Given the description of an element on the screen output the (x, y) to click on. 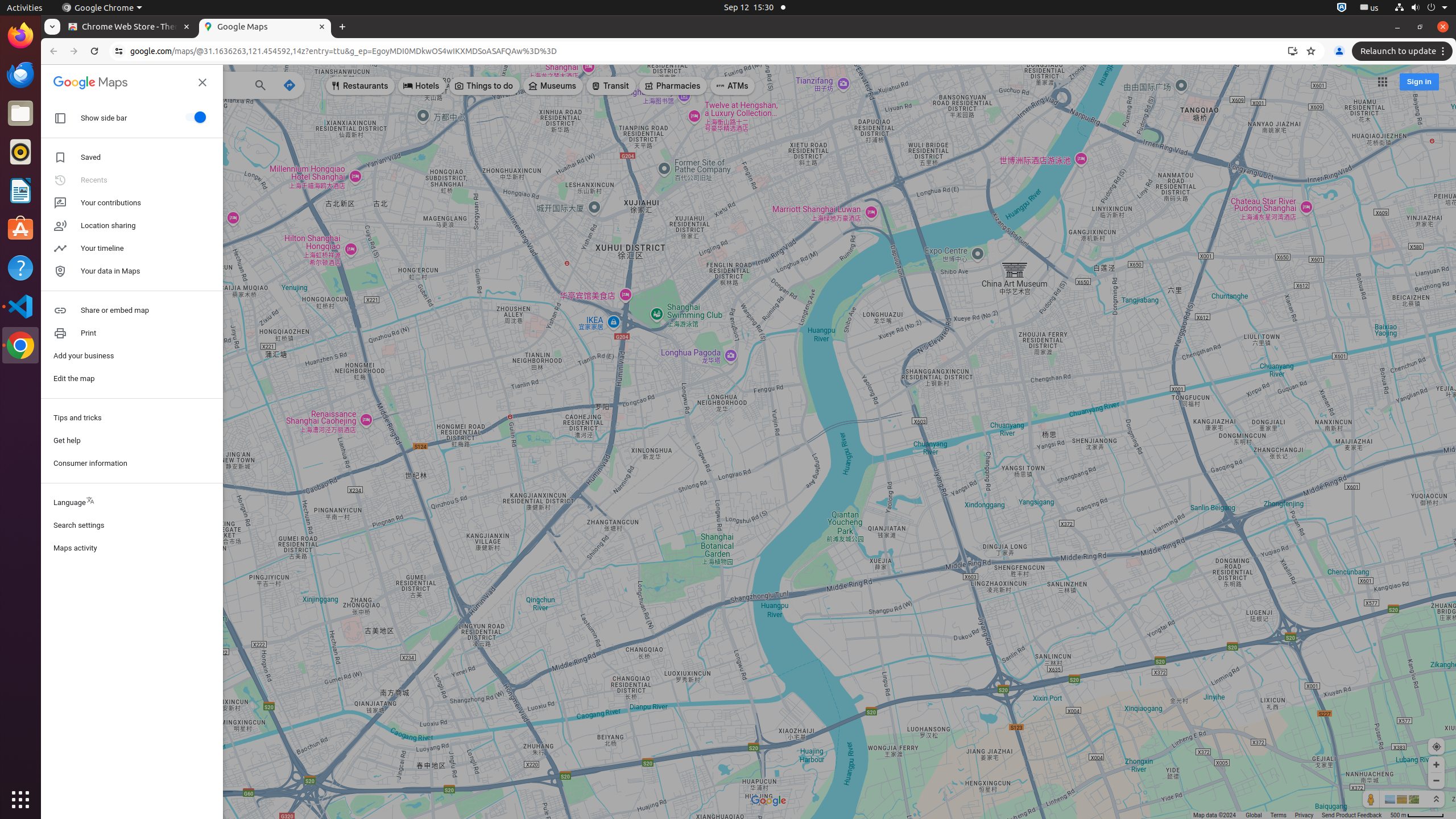
Bookmark this tab Element type: push-button (1310, 51)
Add your business Element type: menu-item (131, 355)
Google apps Element type: push-button (1382, 81)
Your contributions Element type: menu-item (131, 202)
Firefox Web Browser Element type: push-button (20, 35)
